Given the description of an element on the screen output the (x, y) to click on. 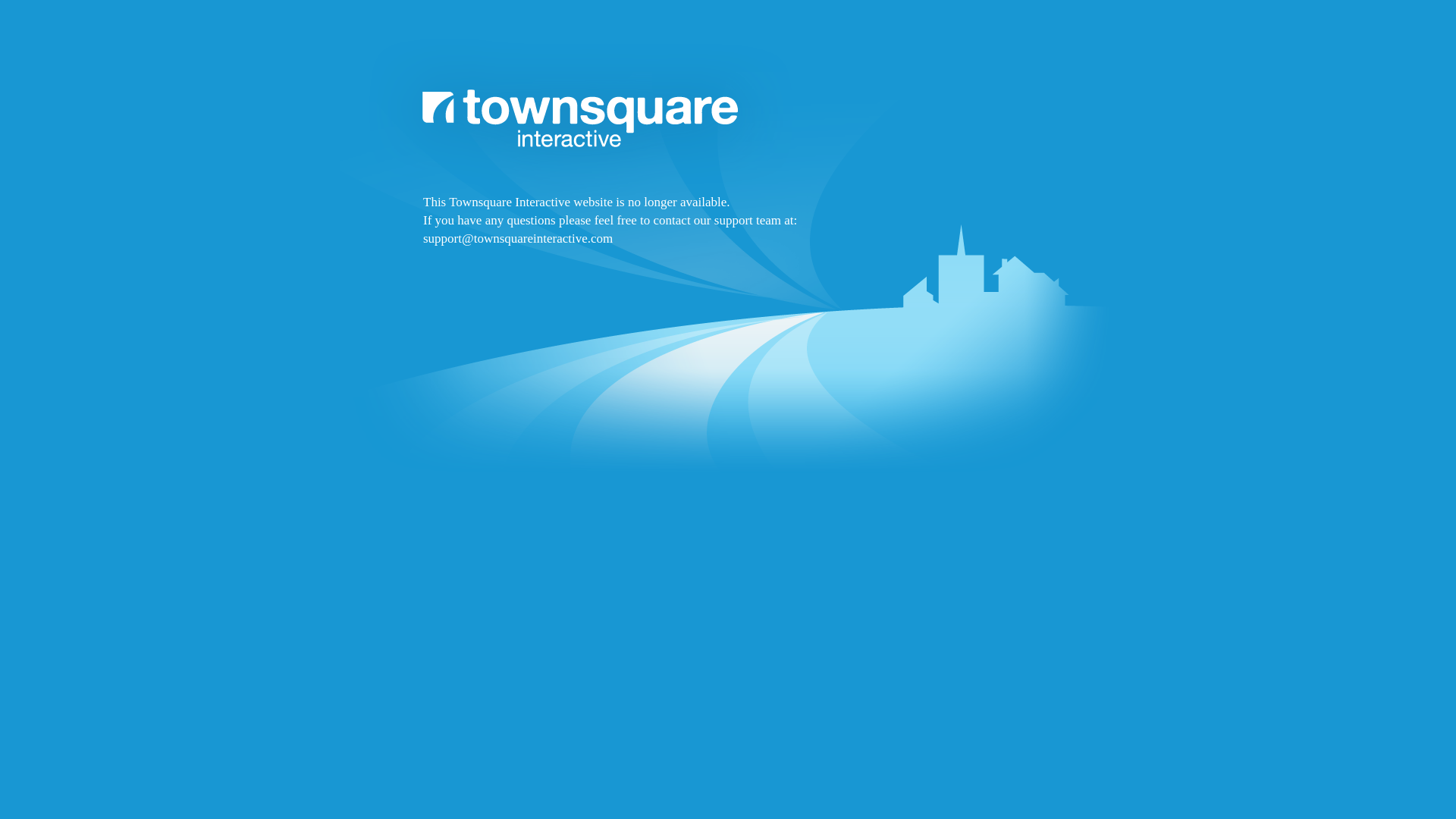
Townsquare Interactive Element type: hover (727, 297)
